Given the description of an element on the screen output the (x, y) to click on. 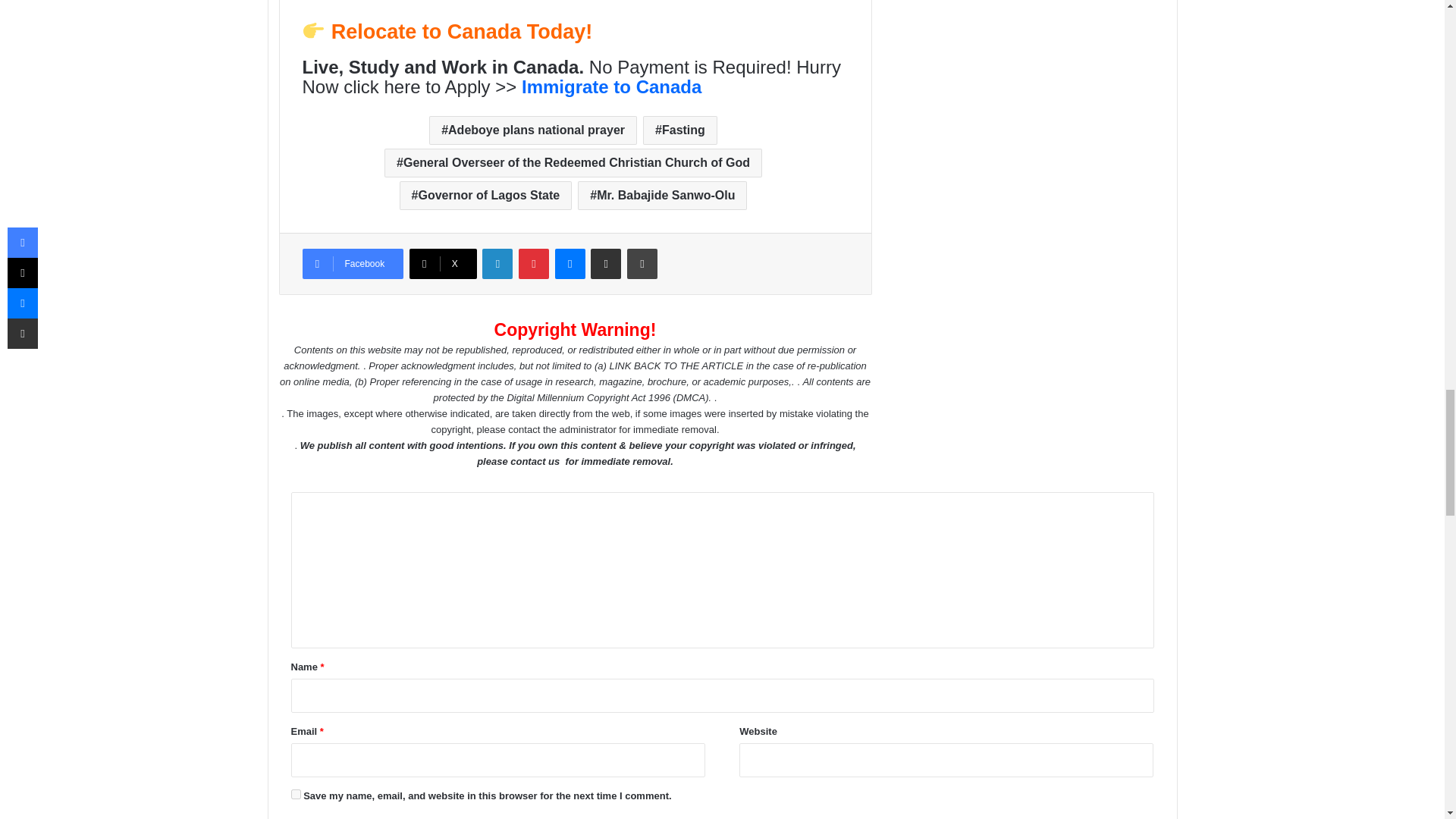
Pinterest (533, 263)
LinkedIn (496, 263)
Facebook (352, 263)
X (443, 263)
yes (296, 794)
